Given the description of an element on the screen output the (x, y) to click on. 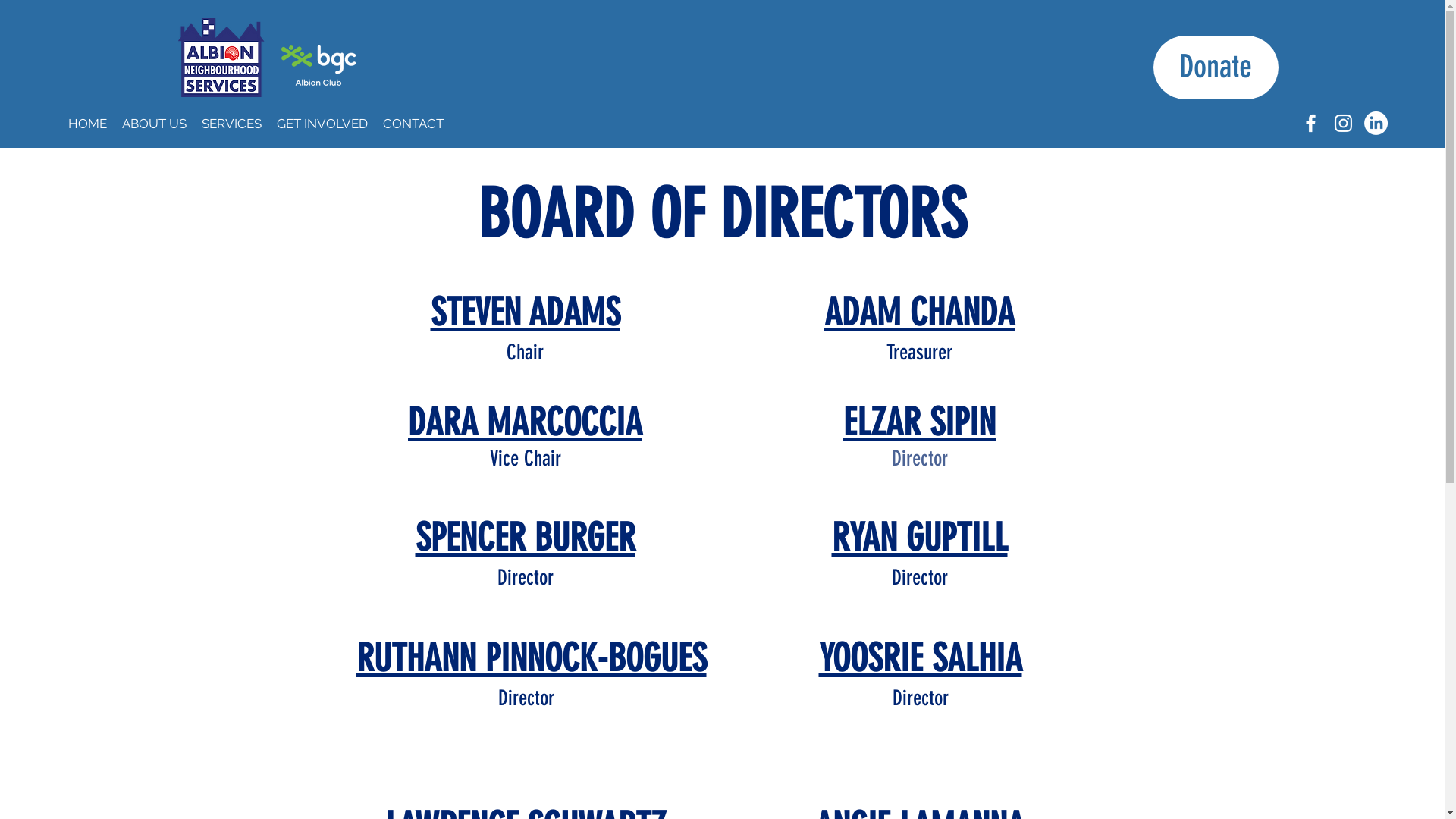
RUTHANN PINNOCK-BOGUES Element type: text (531, 657)
STEVEN ADAMS Element type: text (525, 312)
RYAN GUPTILL Element type: text (919, 537)
SPENCER BURGER Element type: text (525, 537)
Donate Element type: text (1214, 67)
ELZAR SIPIN Element type: text (919, 422)
CONTACT Element type: text (413, 123)
ADAM CHANDA Element type: text (919, 312)
DARA MARCOCCIA Element type: text (524, 422)
YOOSRIE SALHIA Element type: text (920, 657)
HOME Element type: text (87, 123)
